Given the description of an element on the screen output the (x, y) to click on. 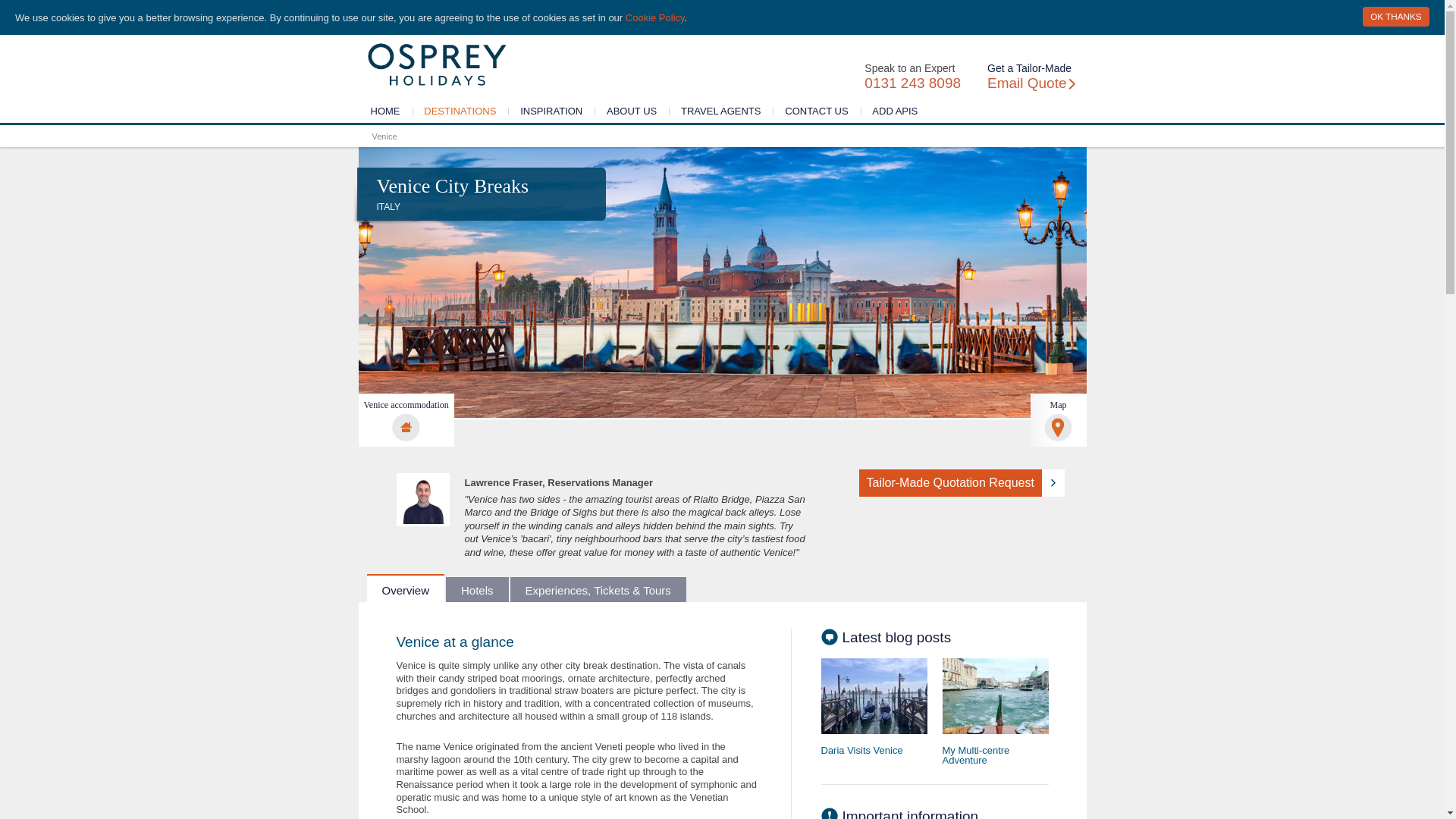
Osprey Holidays (436, 64)
Hotels (476, 589)
Cookie Policy (655, 17)
DESTINATIONS (460, 109)
Overview (405, 587)
HOME (385, 109)
